Given the description of an element on the screen output the (x, y) to click on. 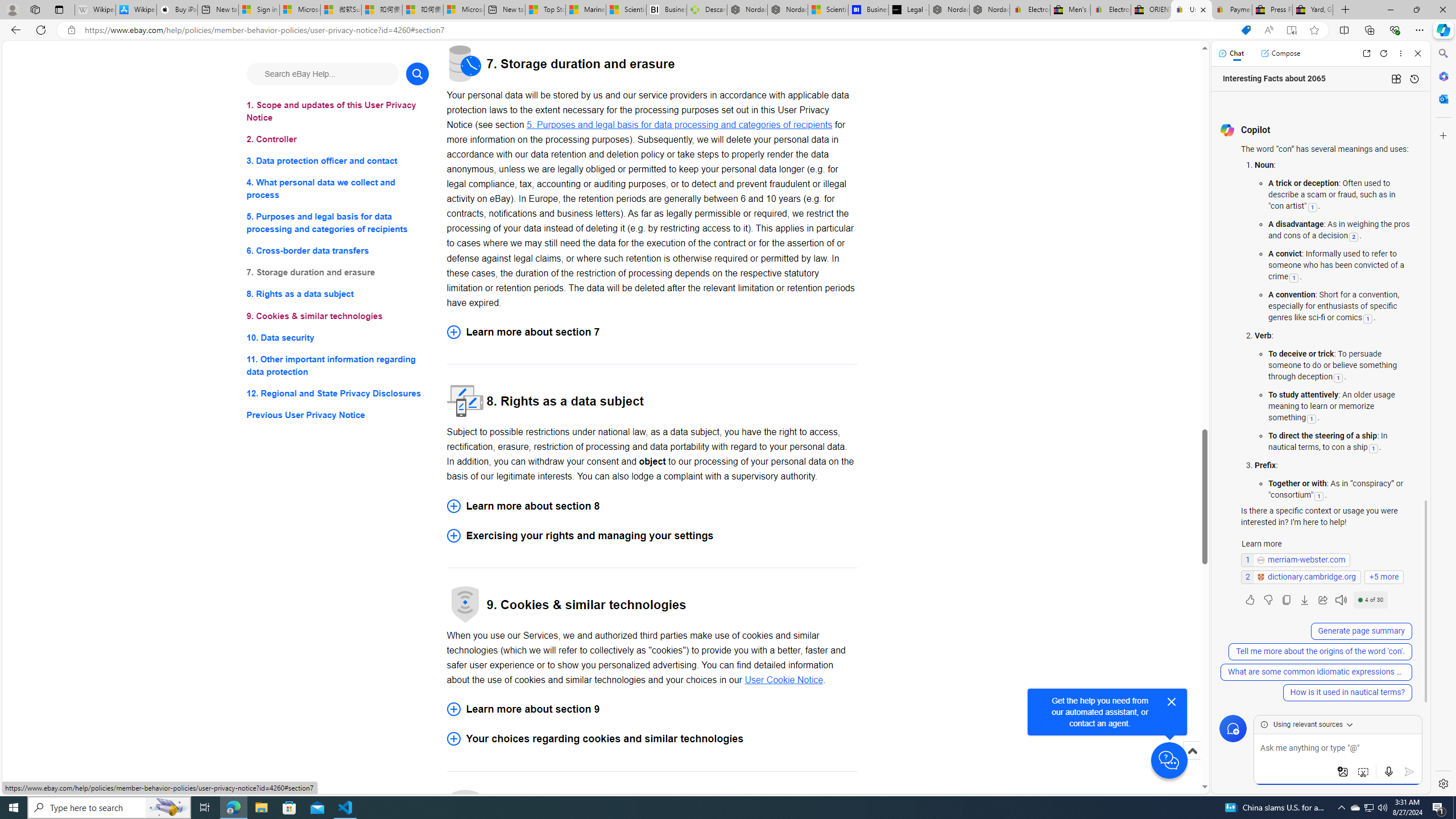
10. Data security (337, 336)
Chat (1231, 52)
Wikipedia - Sleeping (94, 9)
Buy iPad - Apple (176, 9)
10. Data security (337, 336)
Top Stories - MSN (544, 9)
4. What personal data we collect and process (337, 189)
